Given the description of an element on the screen output the (x, y) to click on. 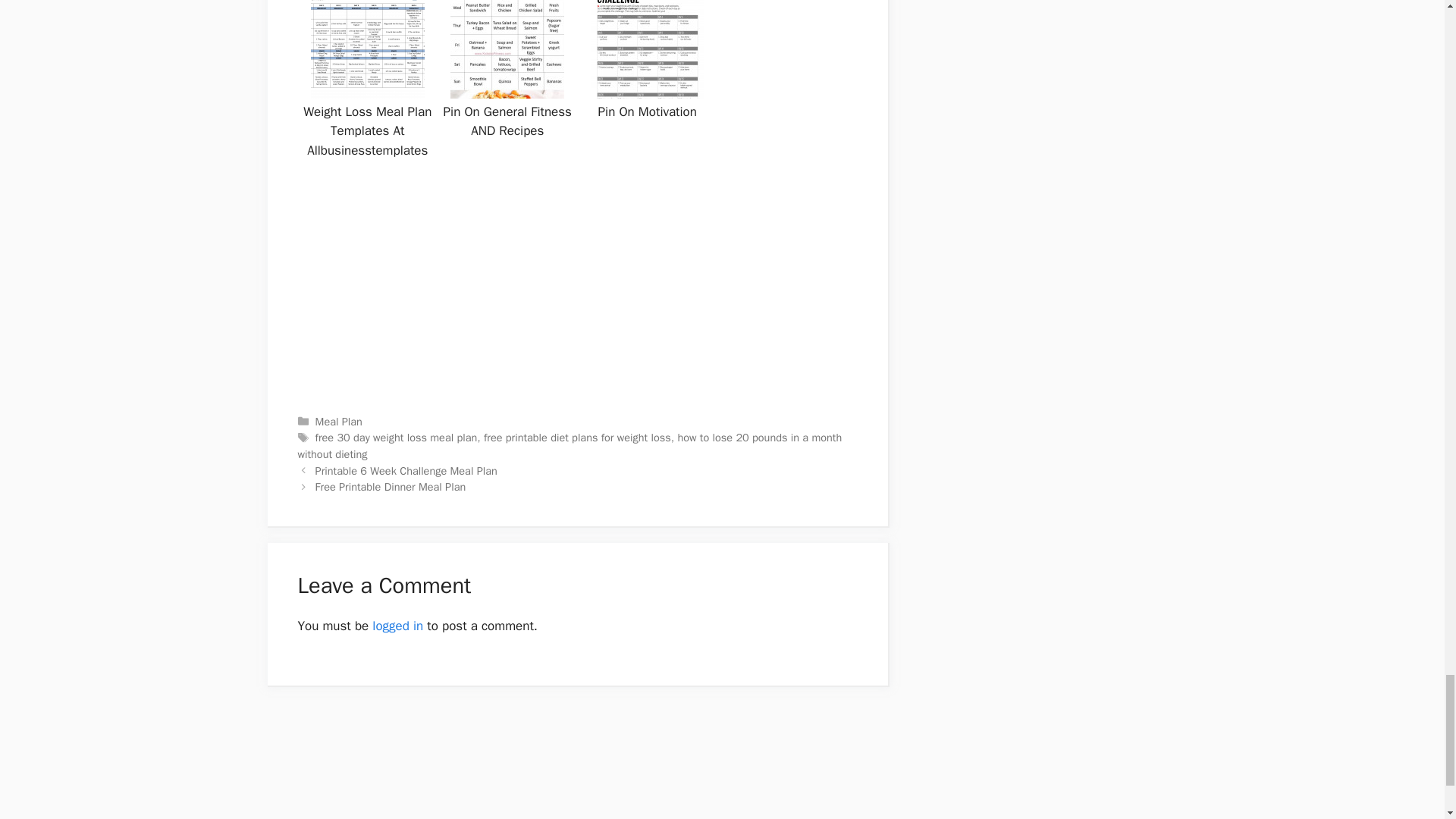
Printable 6 Week Challenge Meal Plan (406, 470)
free 30 day weight loss meal plan (396, 437)
how to lose 20 pounds in a month without dieting (569, 445)
Meal Plan (338, 421)
logged in (397, 625)
Free Printable Dinner Meal Plan (390, 486)
free printable diet plans for weight loss (577, 437)
